Given the description of an element on the screen output the (x, y) to click on. 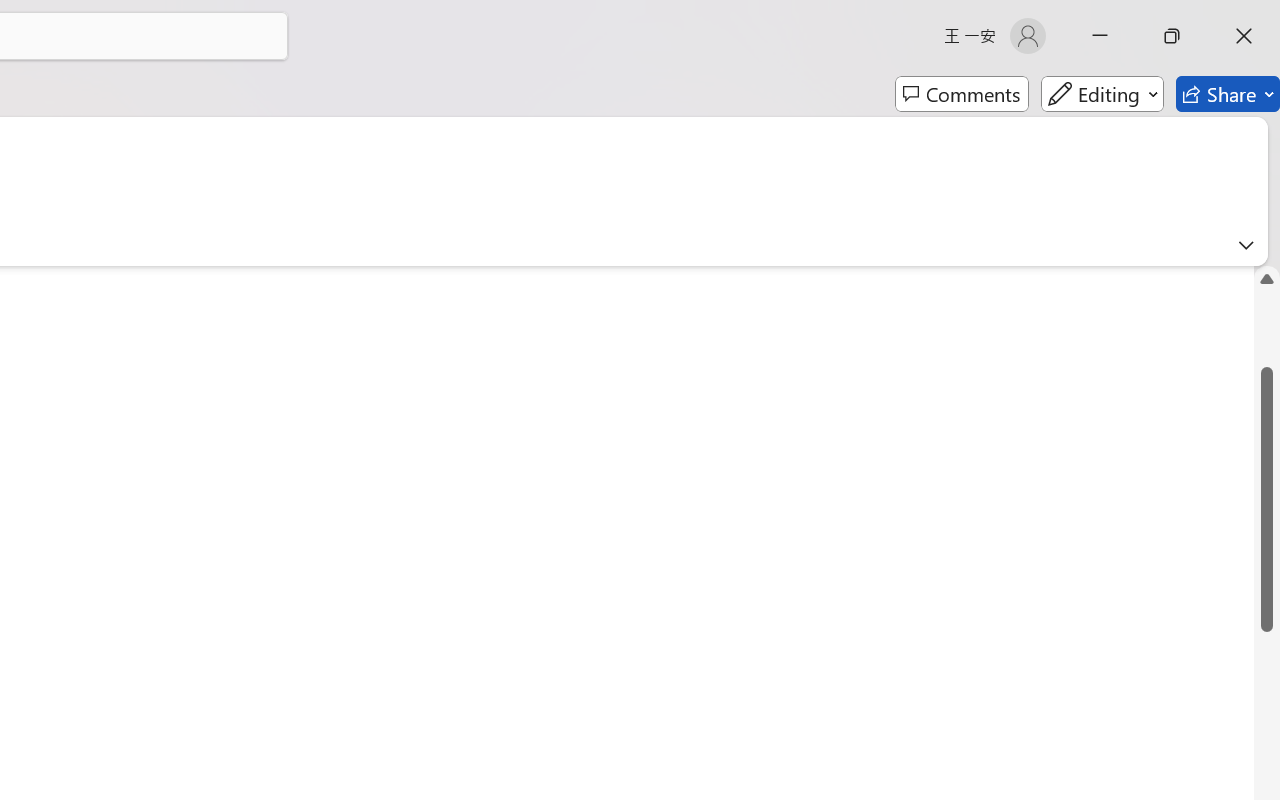
Auto-detect (1066, 250)
Czech (1030, 455)
